Given the description of an element on the screen output the (x, y) to click on. 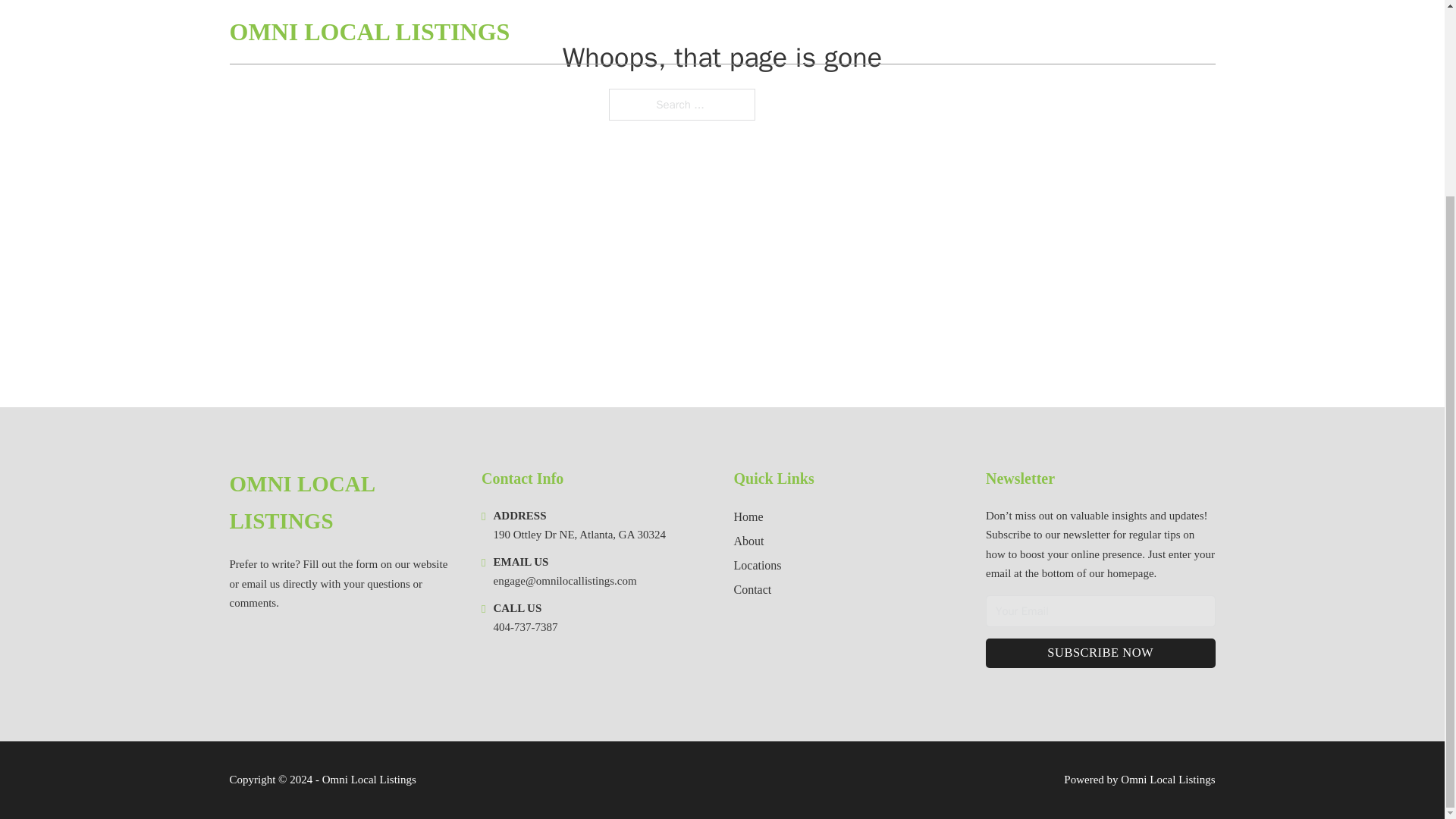
Home (747, 516)
Contact (752, 589)
SUBSCRIBE NOW (1100, 653)
About (748, 540)
OMNI LOCAL LISTINGS (343, 503)
404-737-7387 (525, 626)
Locations (757, 565)
